Given the description of an element on the screen output the (x, y) to click on. 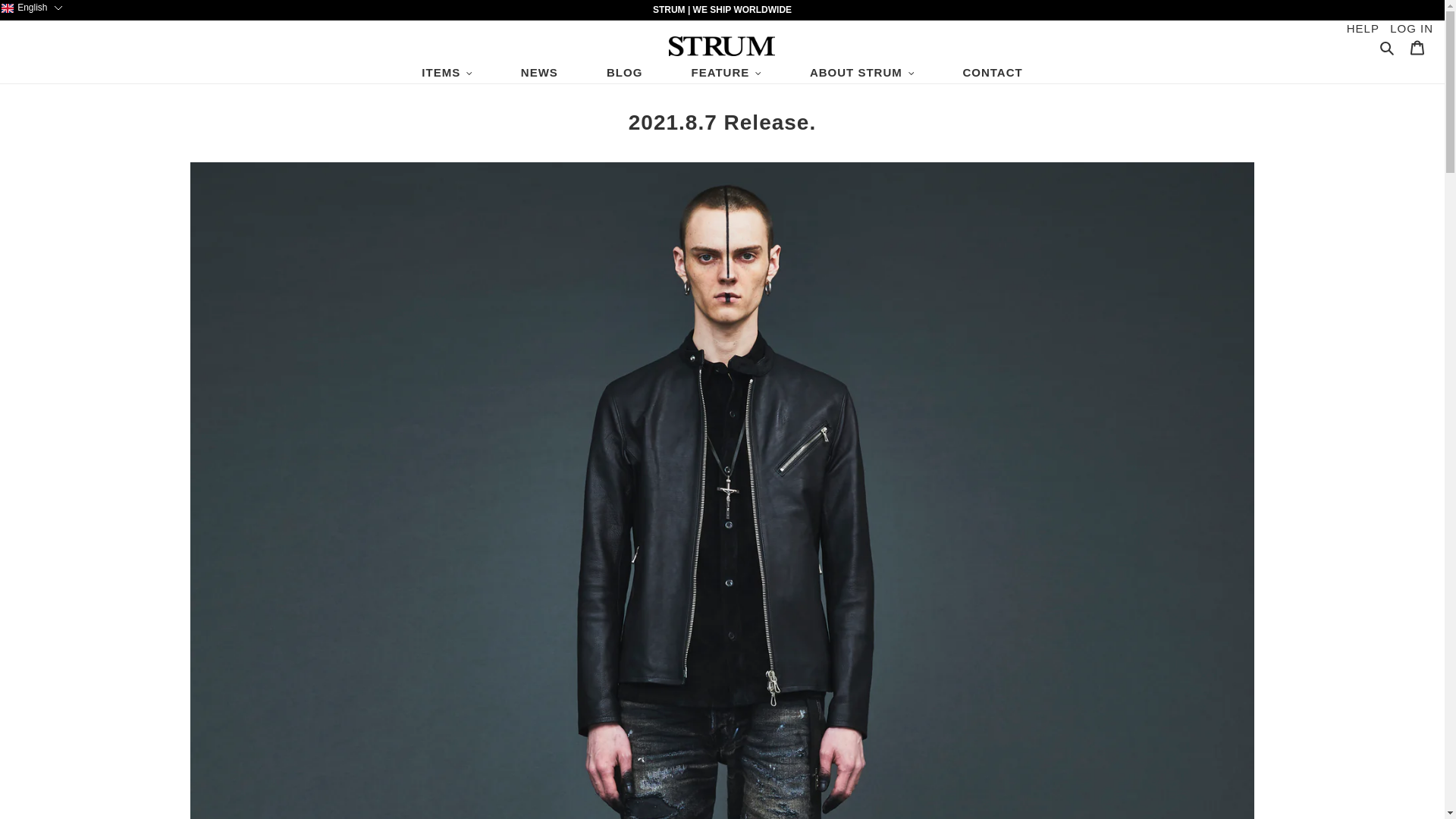
Search (1387, 46)
Cart (1416, 47)
